Given the description of an element on the screen output the (x, y) to click on. 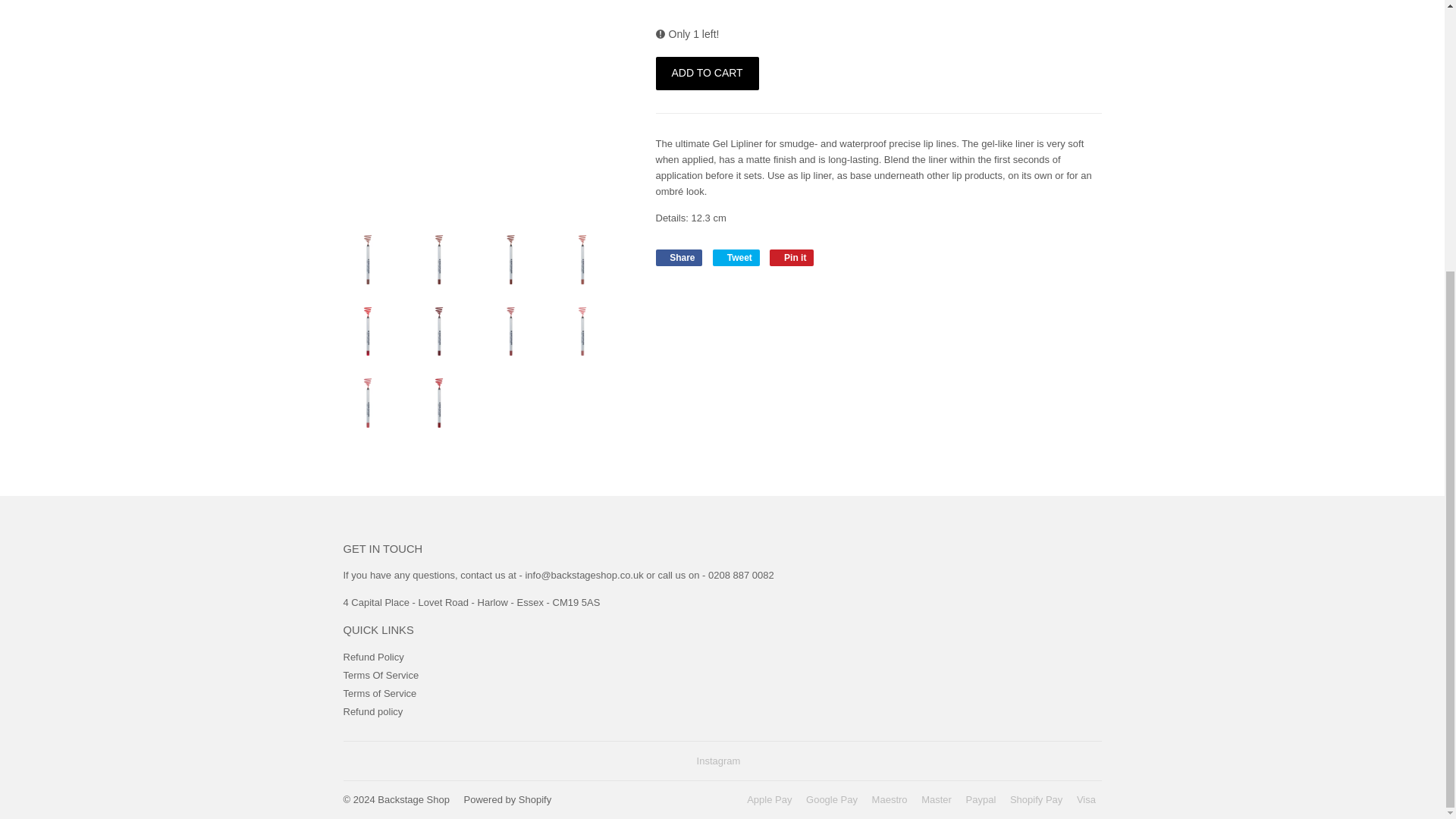
Tweet on Twitter (736, 257)
Pin on Pinterest (791, 257)
Share on Facebook (678, 257)
Backstage Shop on Instagram (719, 760)
